Given the description of an element on the screen output the (x, y) to click on. 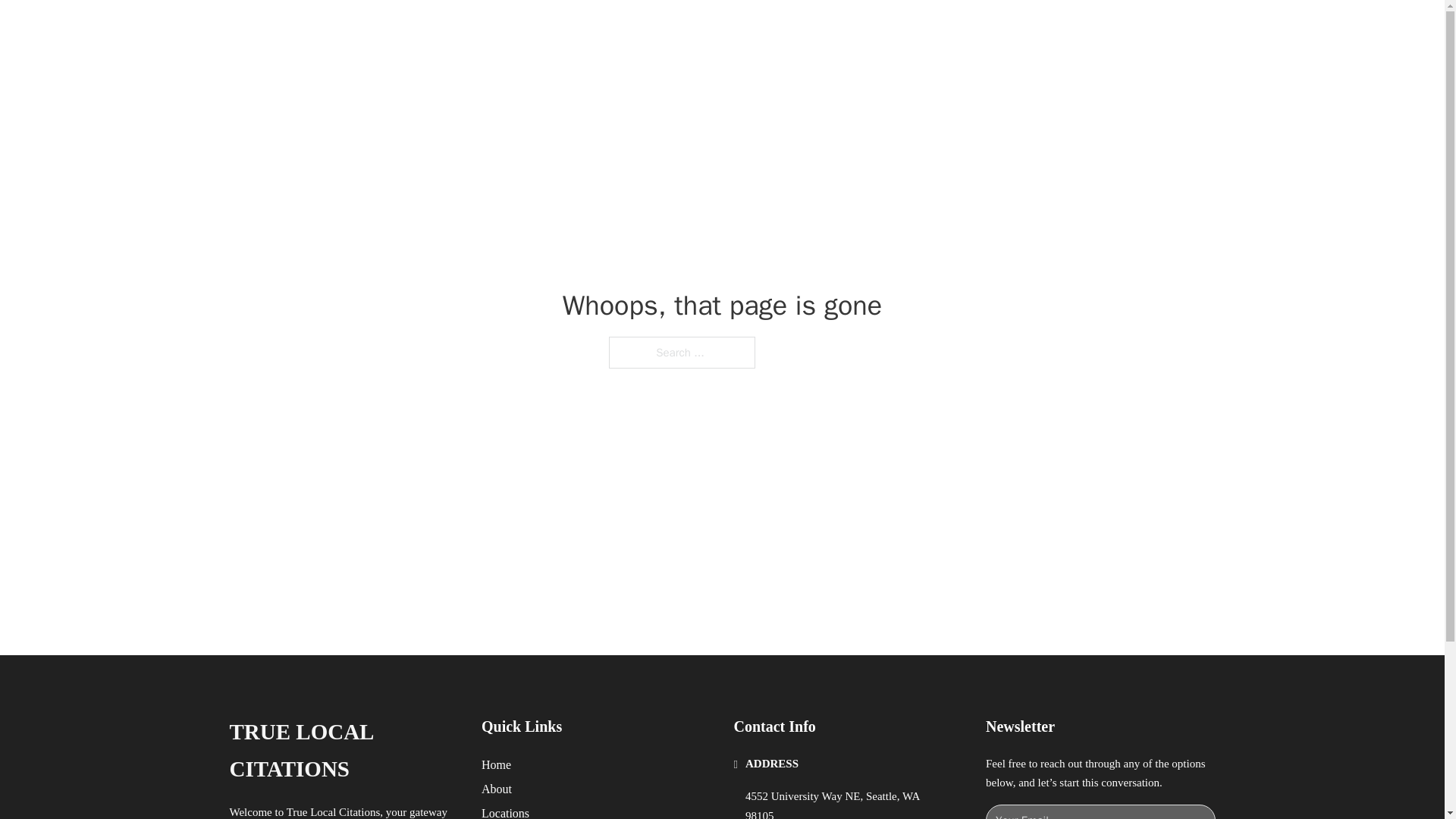
HOME (919, 29)
Home (496, 764)
Locations (505, 811)
LOCATIONS (990, 29)
About (496, 788)
TRUE LOCAL CITATIONS (426, 28)
TRUE LOCAL CITATIONS (343, 750)
